Given the description of an element on the screen output the (x, y) to click on. 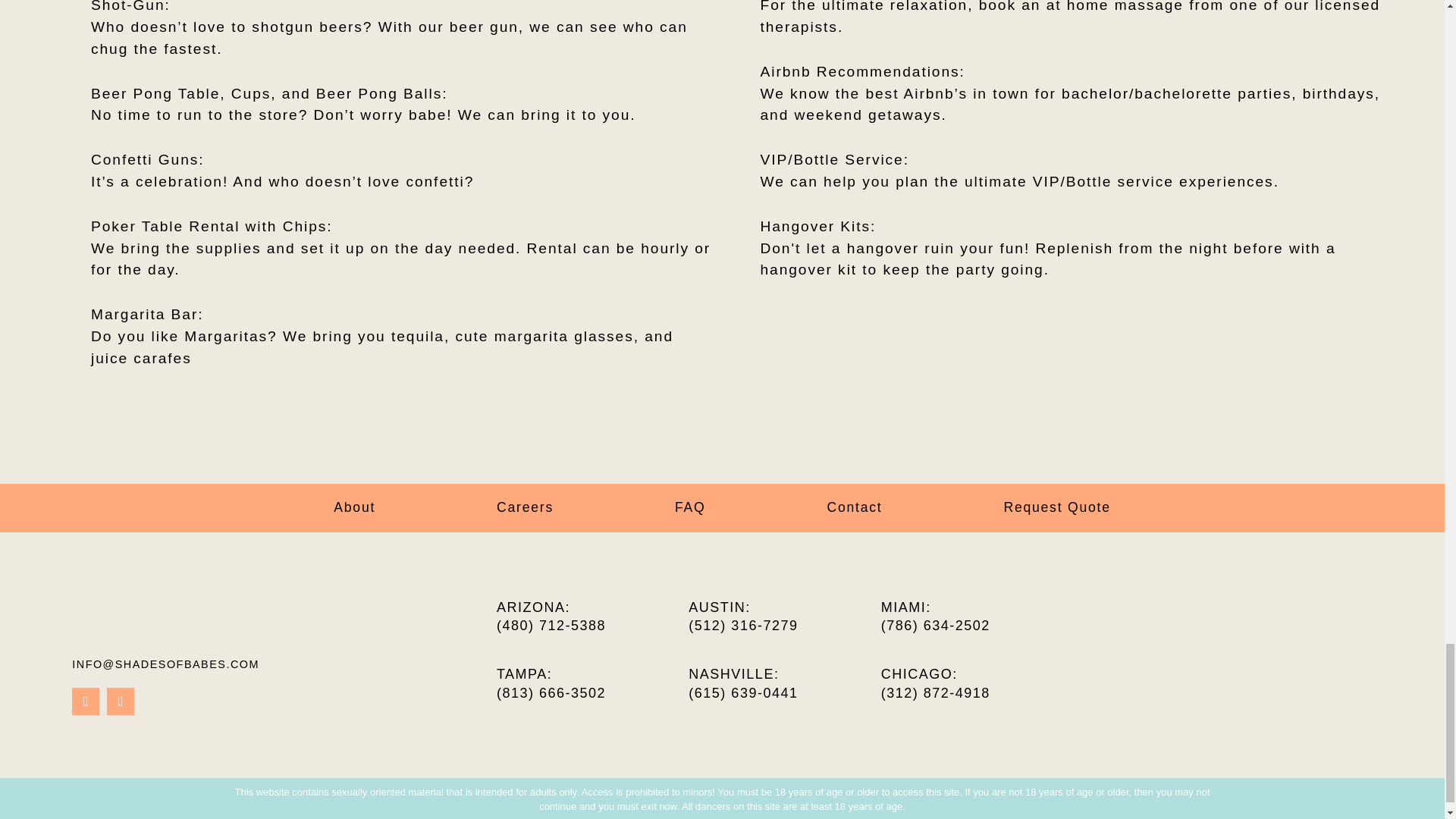
The Bash - Booking Event Planner Online Since 1997 (1374, 668)
